Given the description of an element on the screen output the (x, y) to click on. 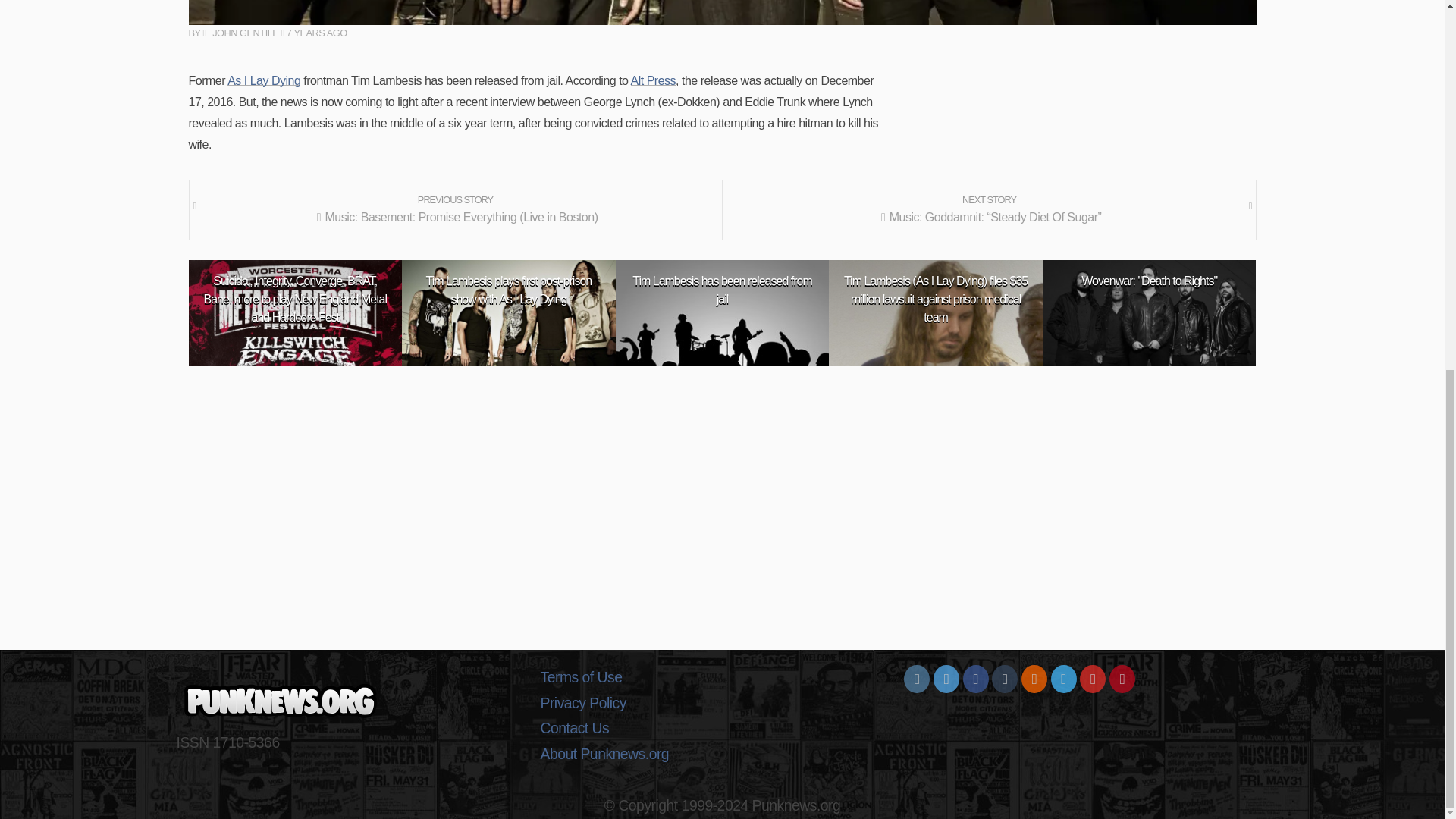
Privacy Policy (722, 703)
Punknews.org on Twitter (946, 678)
Tim Lambesis has been released from jail (721, 289)
Punknews.org on Instagram (917, 678)
Punknews.org main RSS feed (1034, 678)
Wovenwar: "Death to Rights" (1149, 280)
Punknews.org on YouTube (1092, 678)
Punknews.org on Tumblr (1004, 678)
JOHN GENTILE (240, 32)
Terms of Use (722, 678)
Punknews.org on Facebook (975, 678)
About Punknews.org (722, 754)
As I Lay Dying (263, 80)
